Given the description of an element on the screen output the (x, y) to click on. 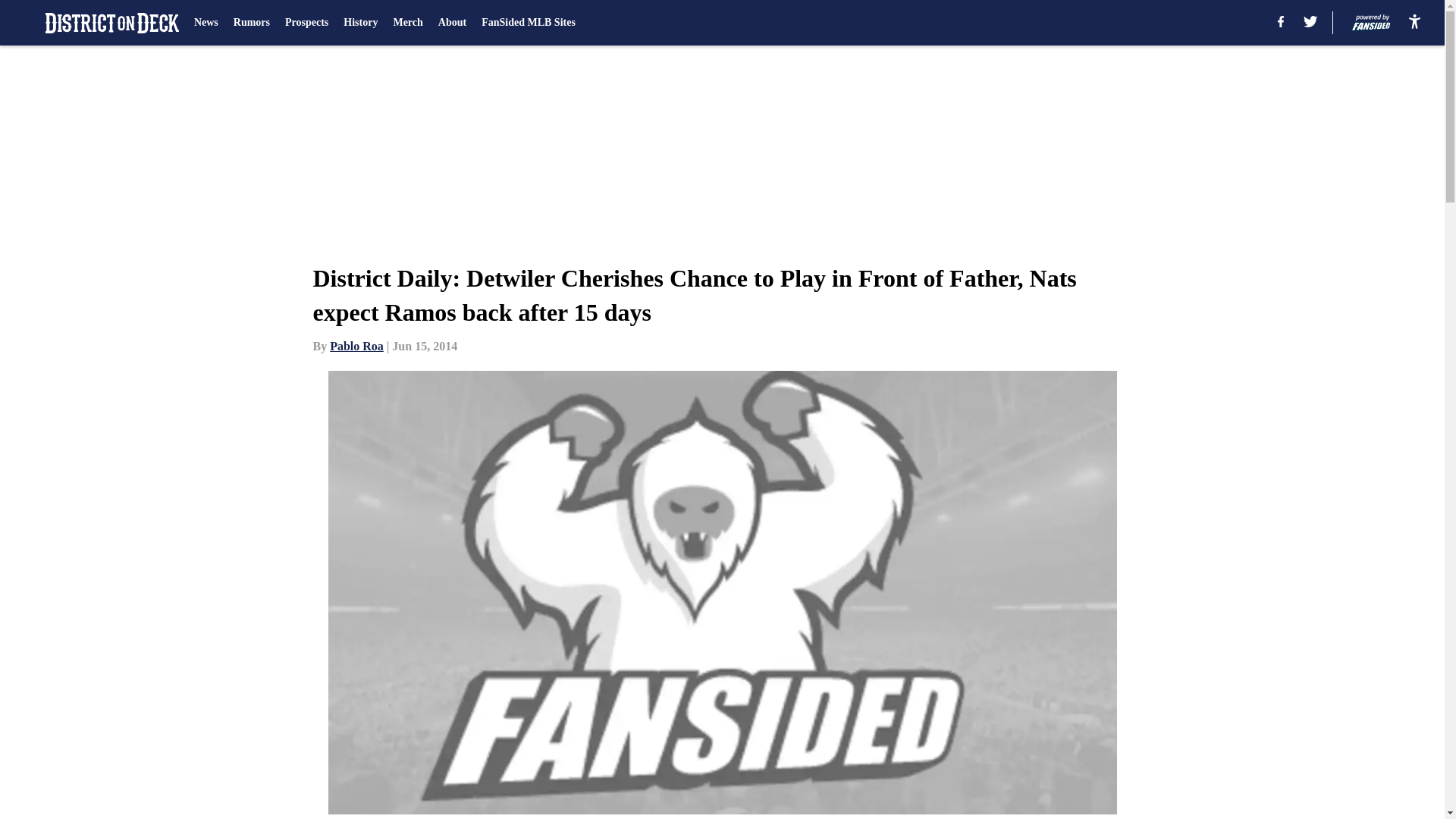
Rumors (250, 22)
News (205, 22)
FanSided MLB Sites (528, 22)
Pablo Roa (357, 345)
Merch (407, 22)
Prospects (307, 22)
History (360, 22)
About (451, 22)
